Given the description of an element on the screen output the (x, y) to click on. 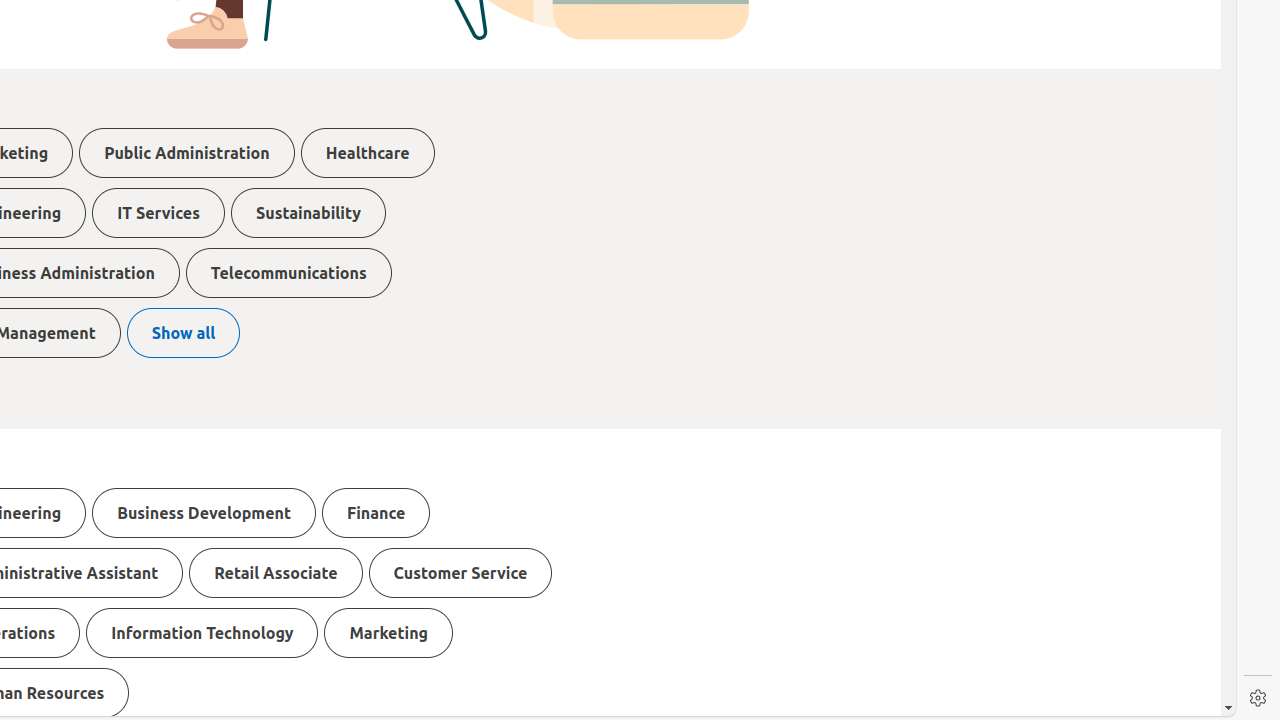
Public Administration Element type: link (187, 153)
Finance Element type: link (376, 513)
